Given the description of an element on the screen output the (x, y) to click on. 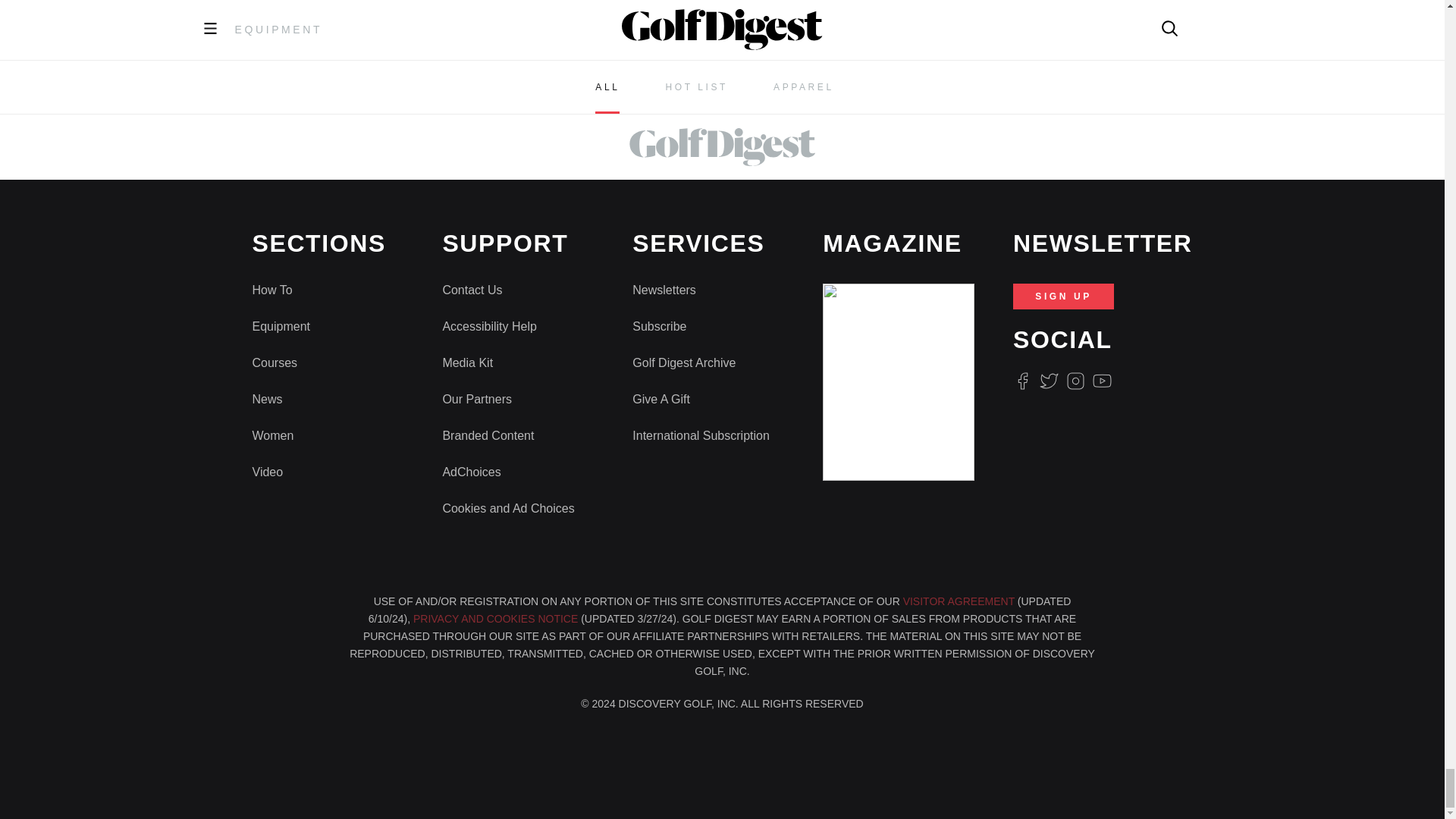
Facebook Logo (1022, 380)
Youtube Icon (1102, 380)
Instagram Logo (1074, 380)
Twitter Logo (1048, 380)
